Given the description of an element on the screen output the (x, y) to click on. 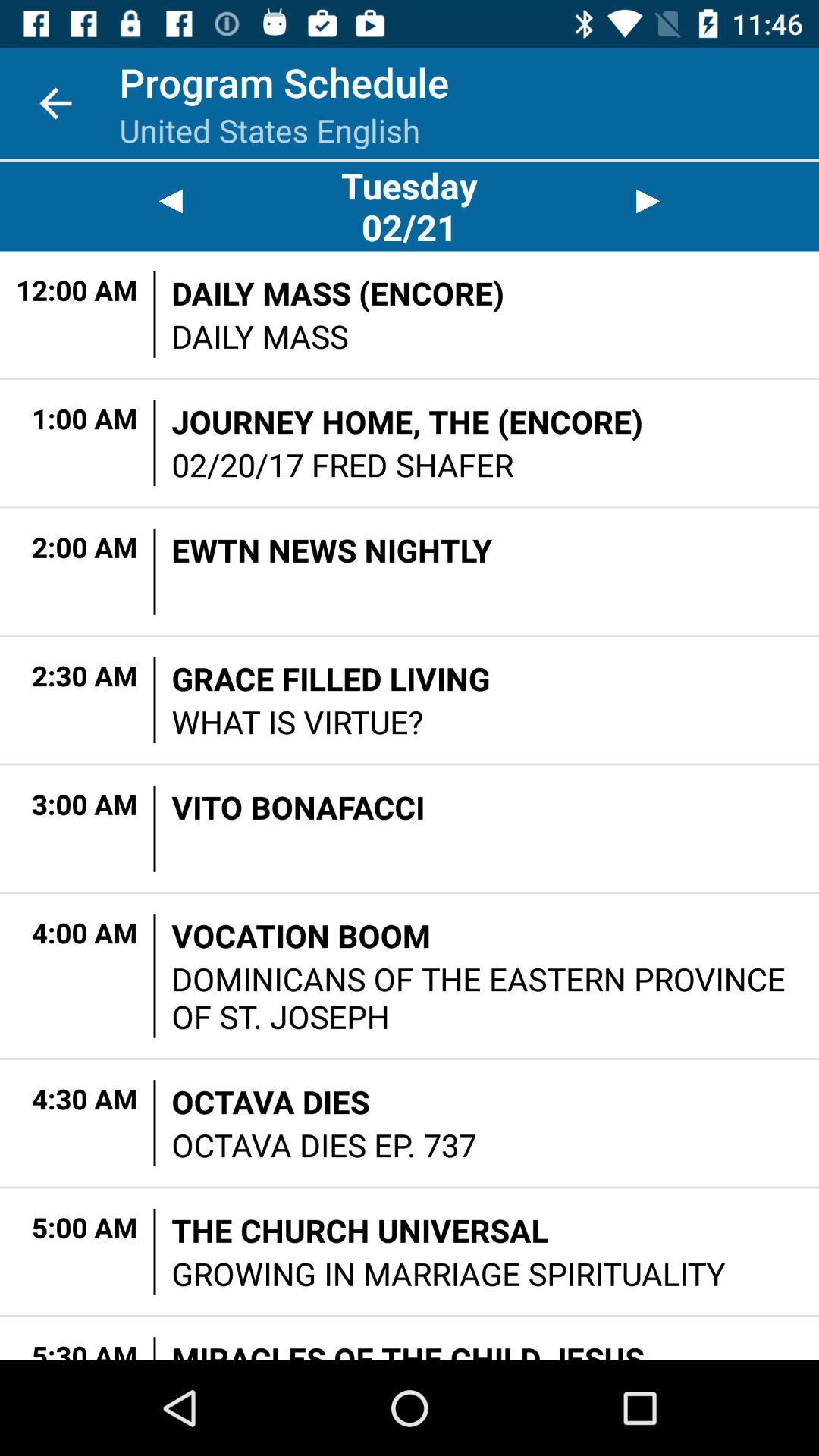
choose item to the right of the 3:00 am item (154, 828)
